Given the description of an element on the screen output the (x, y) to click on. 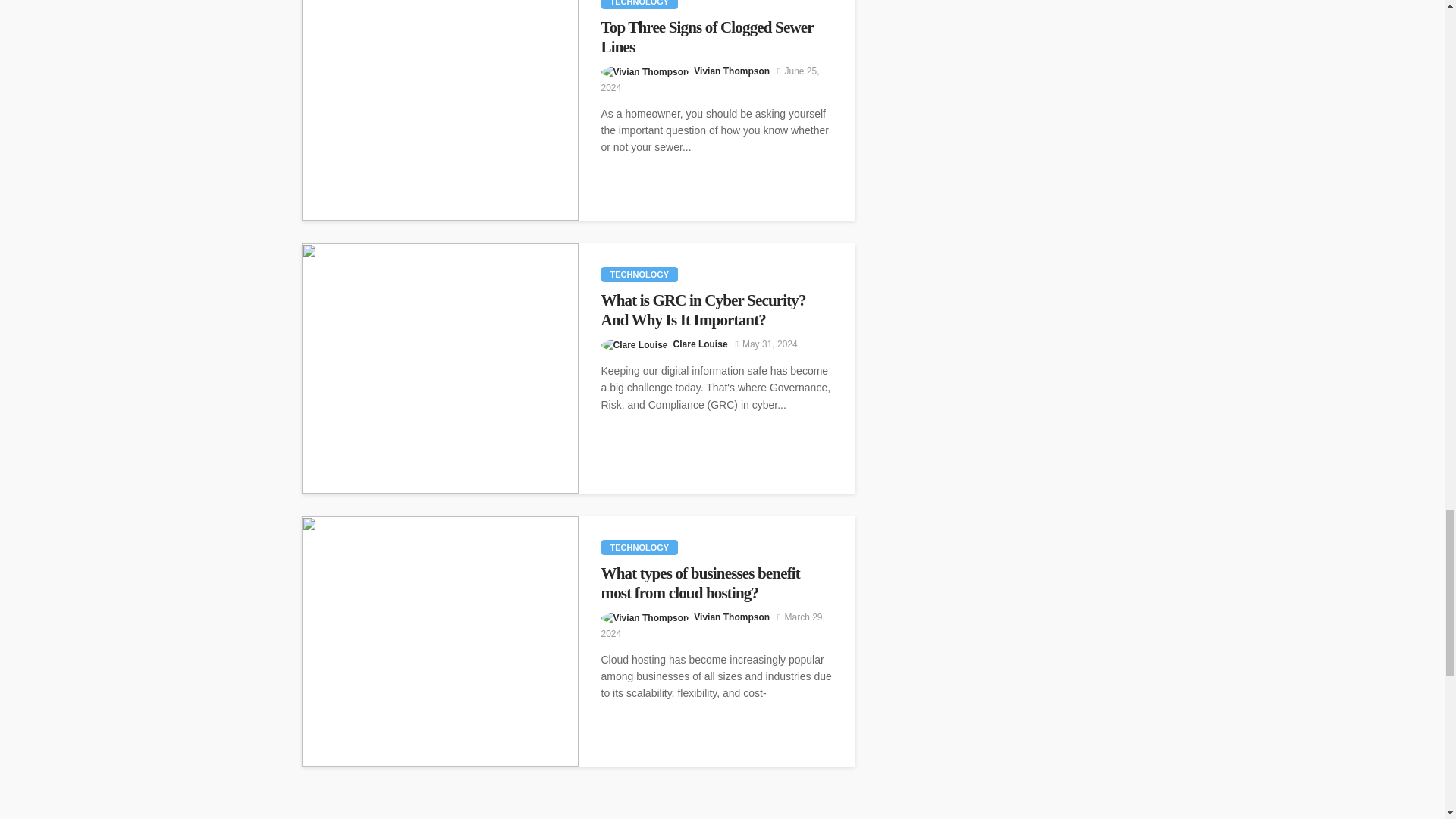
Technology (638, 273)
Top Three Signs of Clogged Sewer Lines (439, 110)
Technology (638, 547)
Top Three Signs of Clogged Sewer Lines (715, 37)
What is GRC in Cyber Security? And Why Is It Important? (715, 310)
What types of businesses benefit most from cloud hosting? (439, 641)
What is GRC in Cyber Security? And Why Is It Important? (715, 310)
Technology (638, 4)
TECHNOLOGY (638, 273)
Top Three Signs of Clogged Sewer Lines (715, 37)
Vivian Thompson (732, 70)
What is GRC in Cyber Security? And Why Is It Important? (439, 368)
Clare Louise (700, 344)
TECHNOLOGY (638, 4)
